Given the description of an element on the screen output the (x, y) to click on. 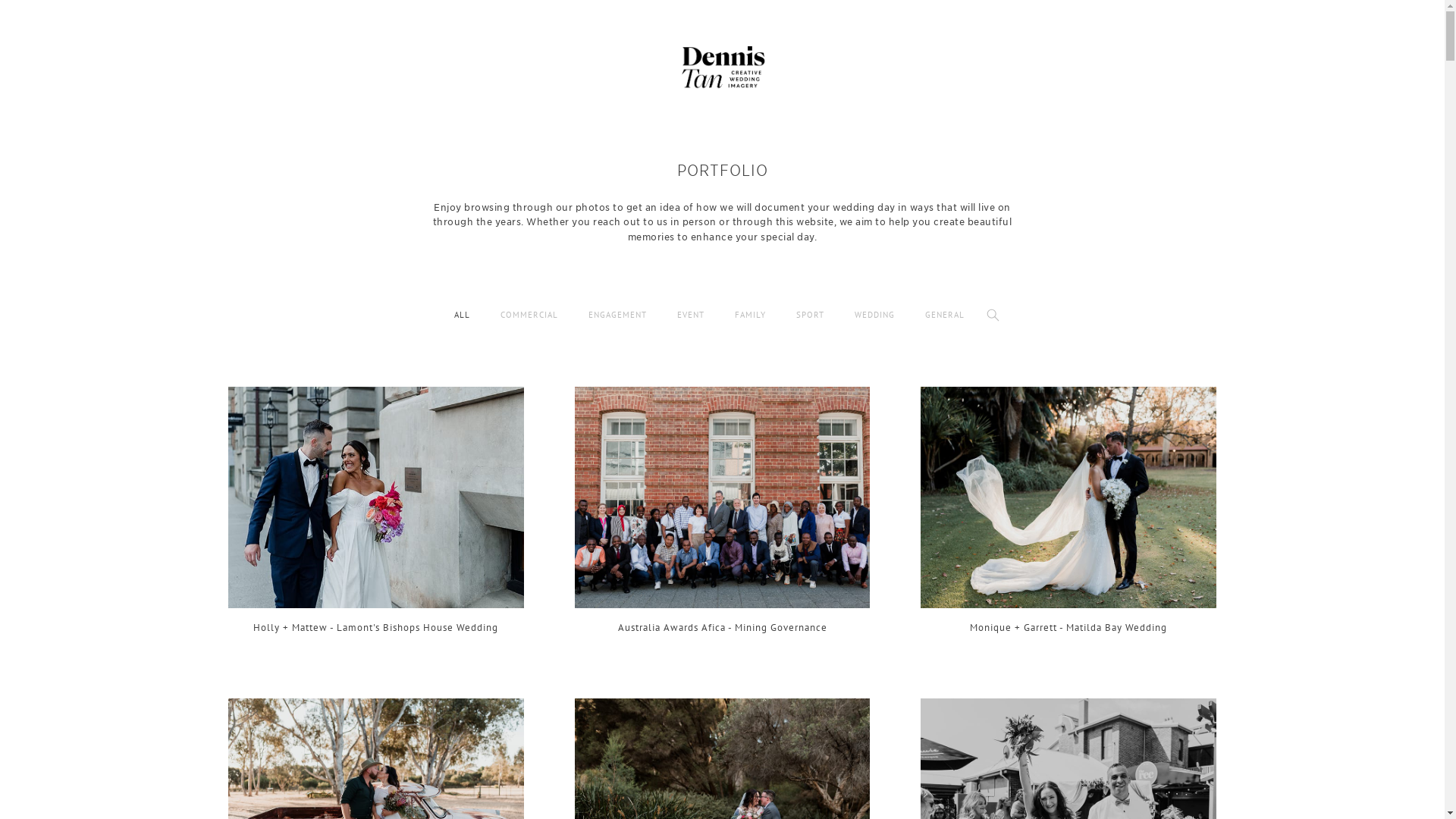
Monique + Garrett - Matilda Bay Wedding Element type: text (1068, 516)
ENGAGEMENT Element type: text (617, 315)
Holly + Mattew - Lamont's Bishops House Wedding Element type: text (376, 516)
EVENT Element type: text (690, 315)
WEDDING Element type: text (874, 315)
GENERAL Element type: text (944, 315)
SPORT Element type: text (810, 315)
FAMILY Element type: text (750, 315)
Australia Awards Afica - Mining Governance Element type: text (722, 516)
ALL Element type: text (462, 315)
COMMERCIAL Element type: text (529, 315)
